Given the description of an element on the screen output the (x, y) to click on. 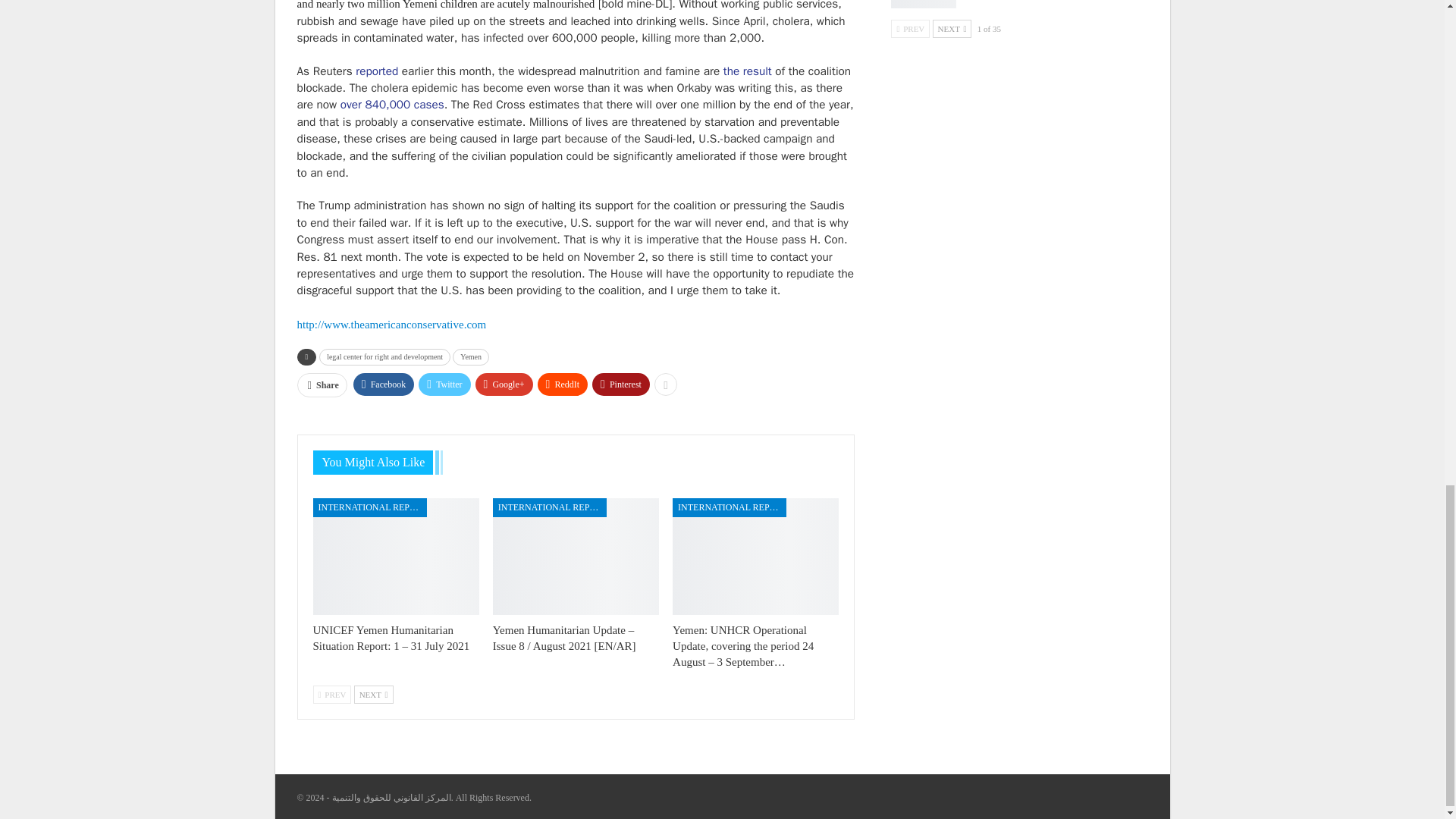
Next (373, 694)
Previous (331, 694)
